Given the description of an element on the screen output the (x, y) to click on. 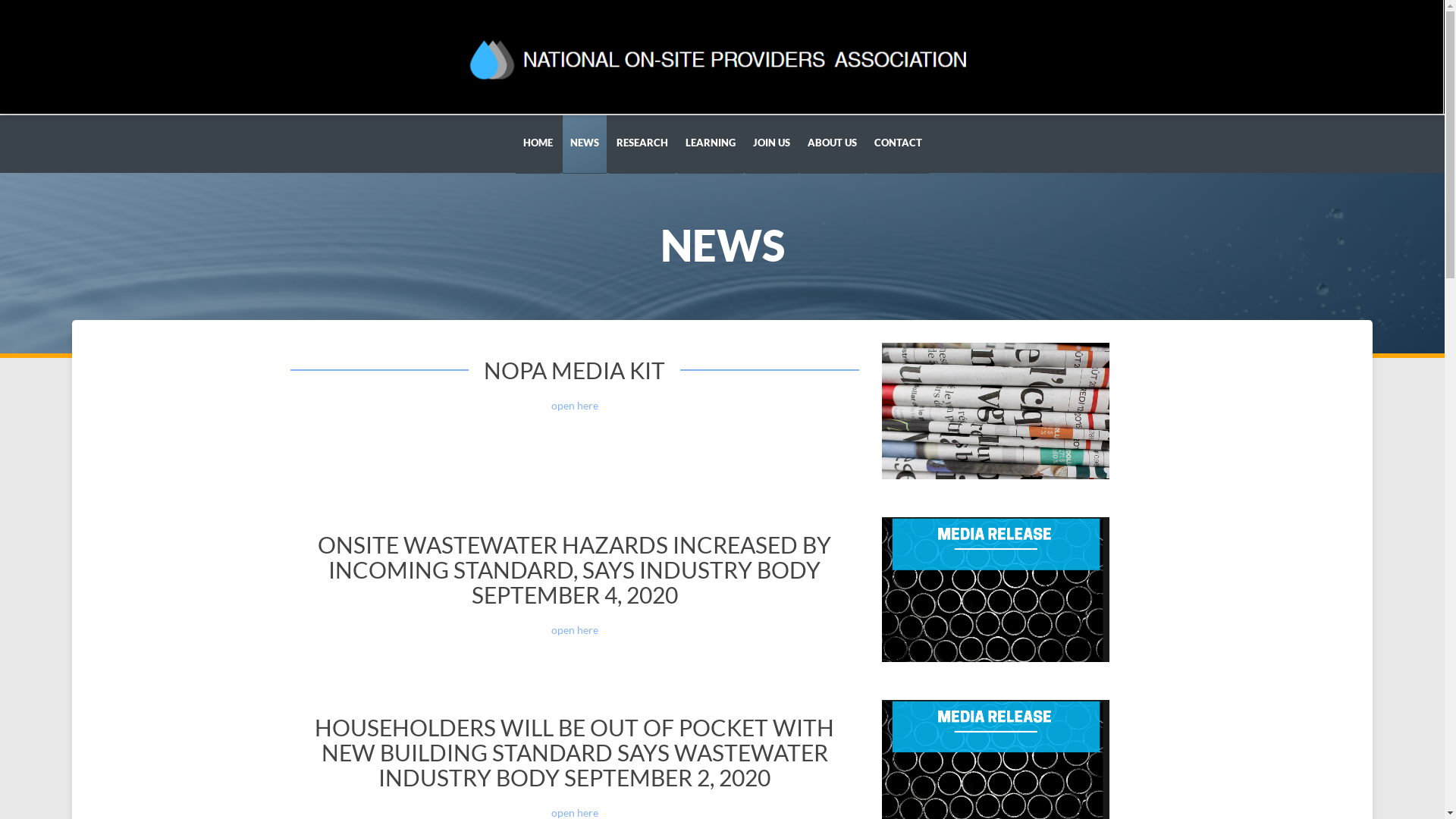
JOIN US Element type: text (770, 144)
open here Element type: text (573, 629)
CONTACT Element type: text (897, 144)
open here Element type: text (573, 404)
LEARNING Element type: text (710, 144)
HOME Element type: text (537, 144)
NEWS Element type: text (584, 144)
RESEARCH Element type: text (641, 144)
ABOUT US Element type: text (831, 144)
